Given the description of an element on the screen output the (x, y) to click on. 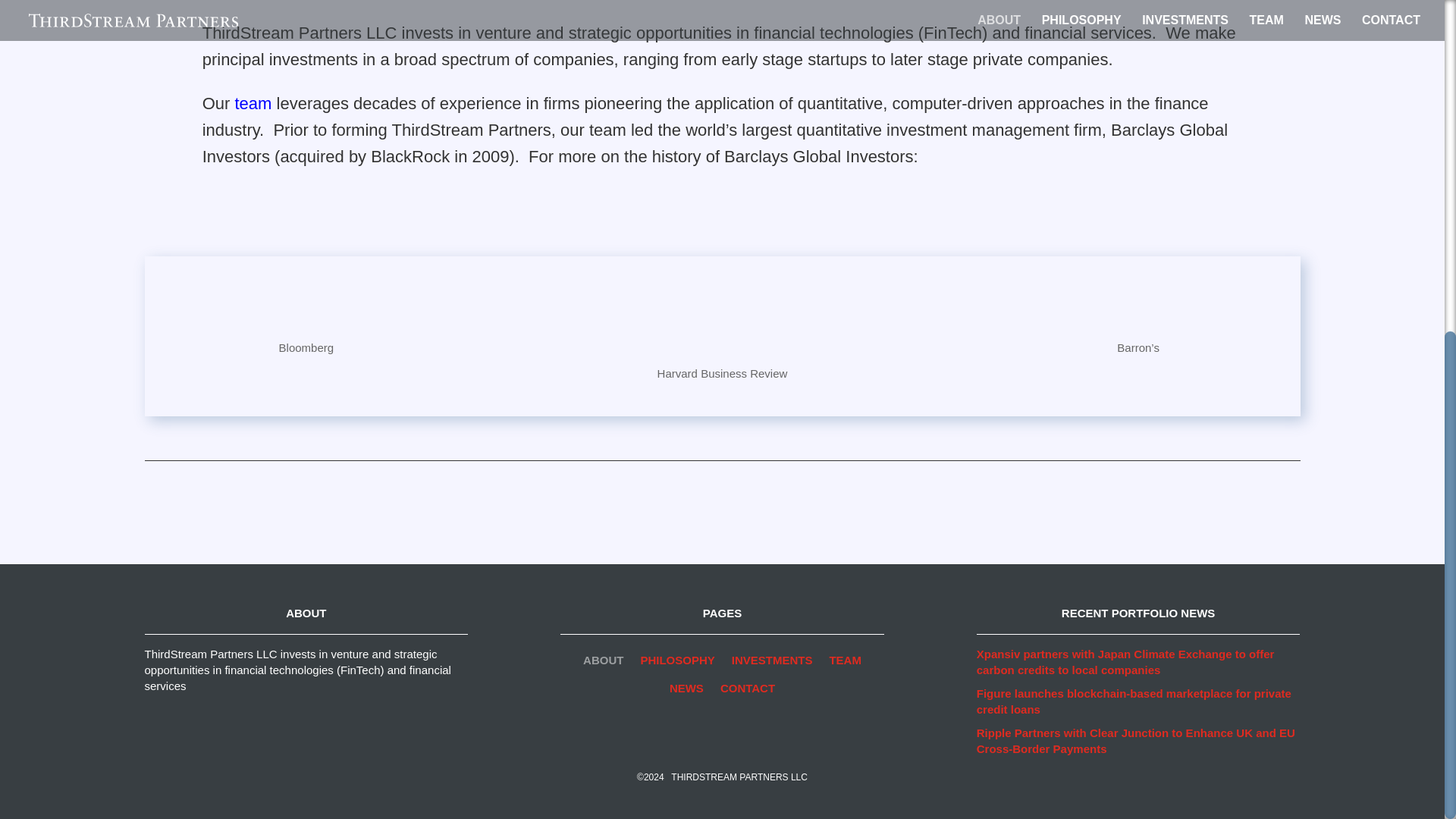
TEAM (844, 662)
NEWS (686, 690)
INVESTMENTS (772, 662)
PHILOSOPHY (677, 662)
ABOUT (603, 662)
CONTACT (747, 690)
team (252, 103)
